Given the description of an element on the screen output the (x, y) to click on. 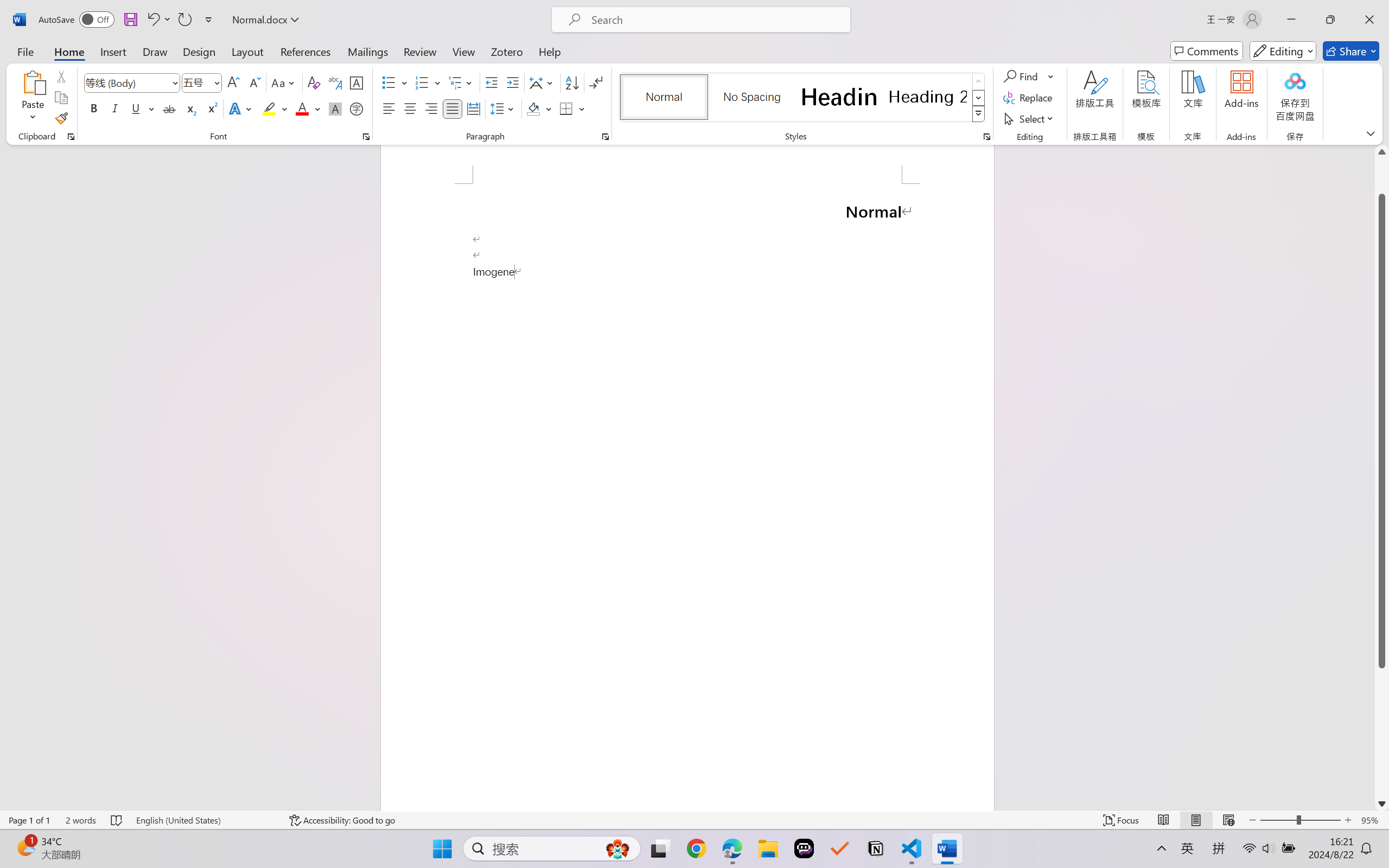
Page down (1382, 732)
Class: NetUIScrollBar (1382, 477)
Row Down (978, 97)
Undo Style (158, 19)
Text Effects and Typography (241, 108)
Align Left (388, 108)
Justify (452, 108)
Format Painter (60, 118)
Help (549, 51)
